Given the description of an element on the screen output the (x, y) to click on. 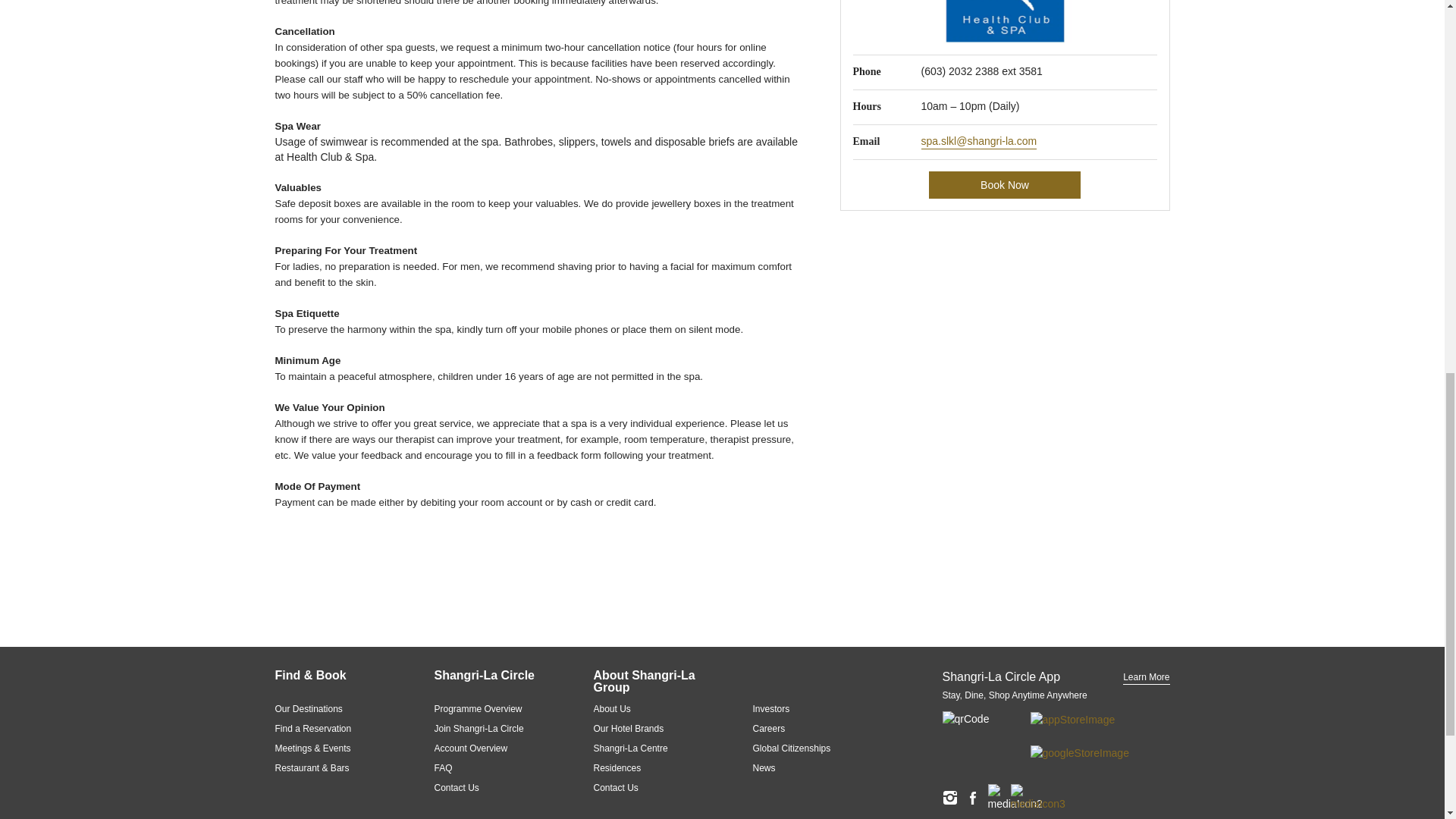
Investors (812, 708)
Learn More (1145, 677)
About Us (653, 708)
News (812, 767)
Shangri-La Centre (653, 748)
Global Citizenships (812, 748)
Contact Us (493, 787)
FAQ (493, 767)
Find a Reservation (335, 728)
Our Destinations (335, 708)
